Given the description of an element on the screen output the (x, y) to click on. 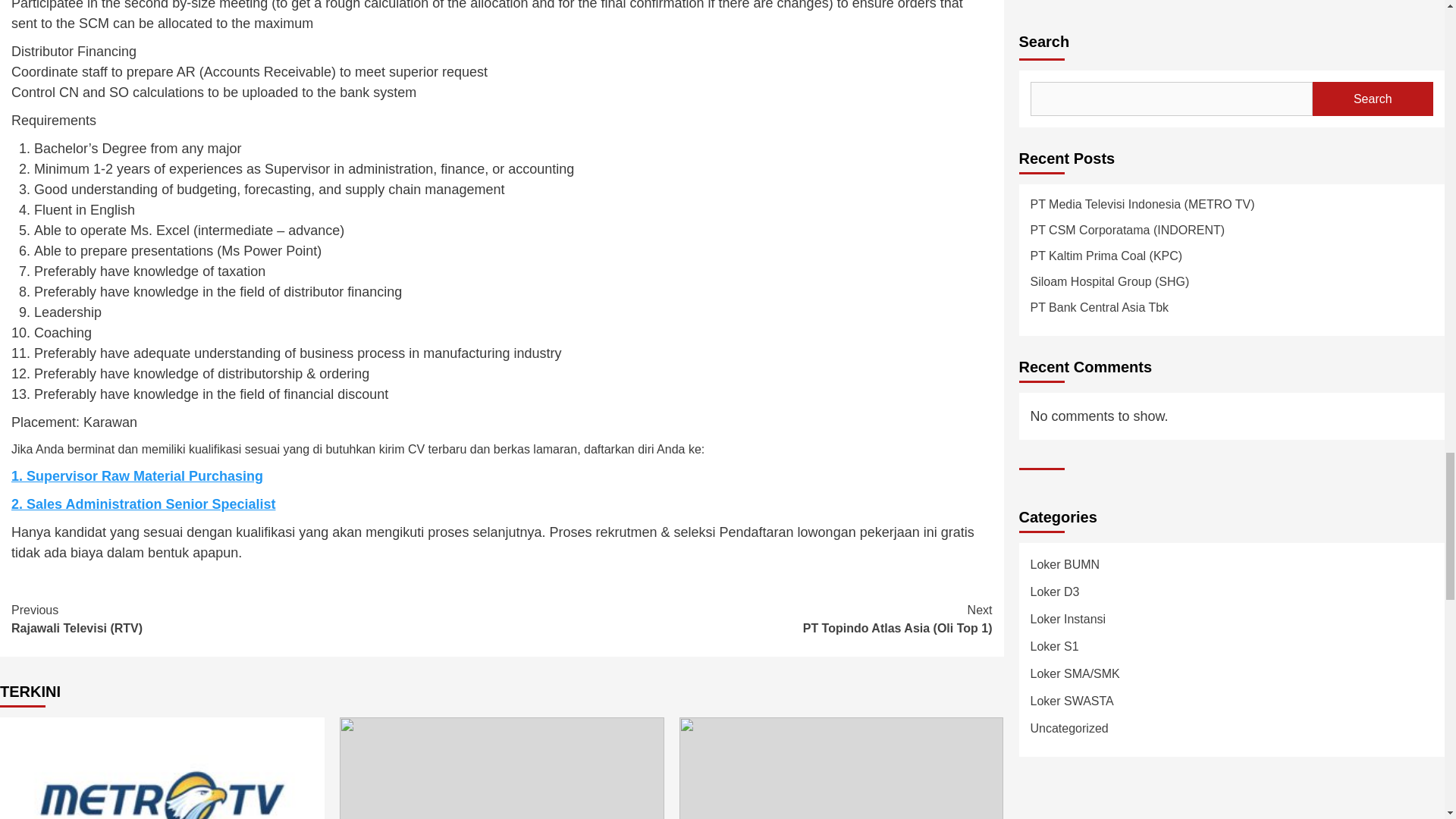
2. Sales Administration Senior Specialist (143, 503)
1. Supervisor Raw Material Purchasing (137, 476)
